Given the description of an element on the screen output the (x, y) to click on. 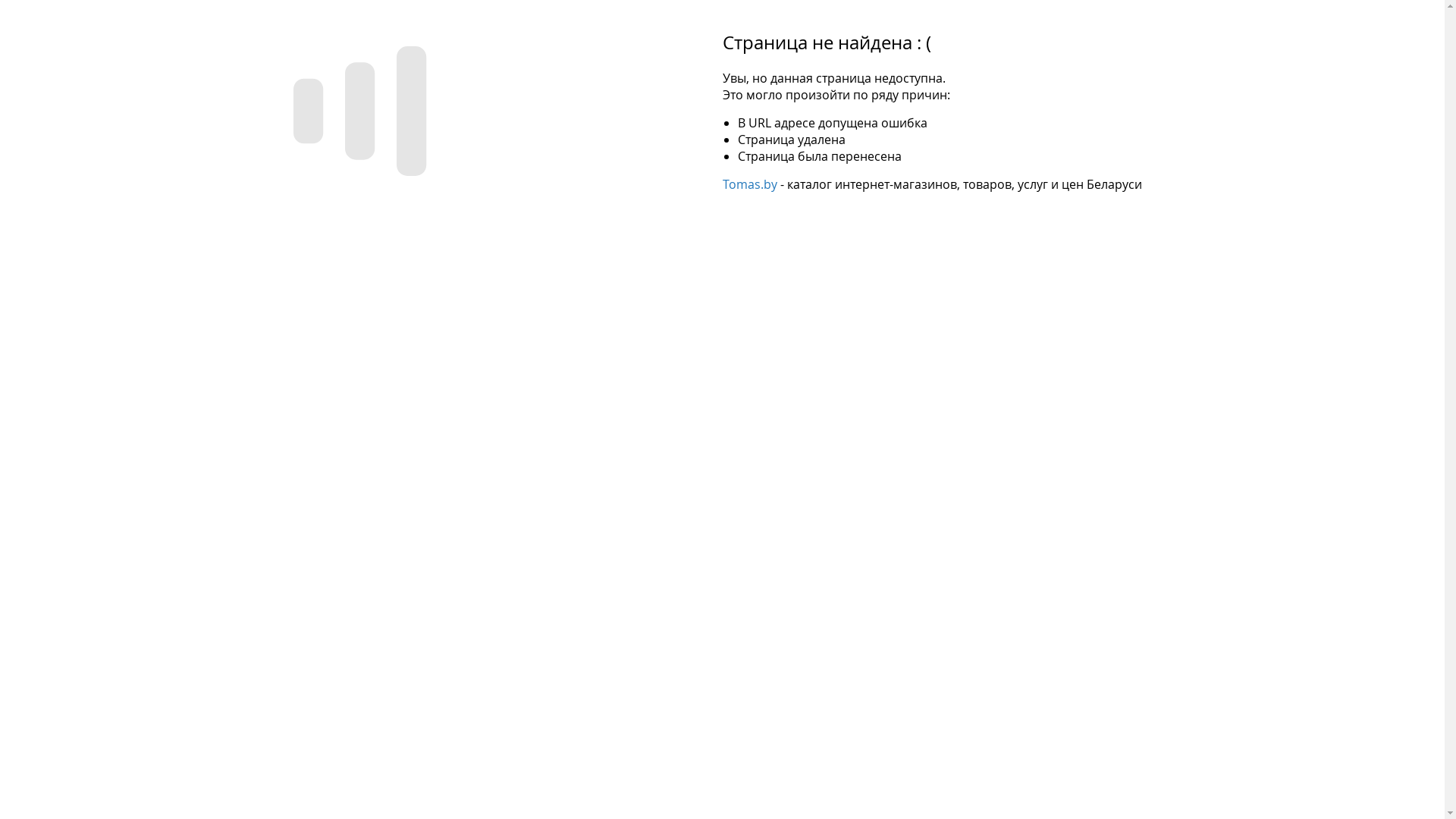
Tomas.by Element type: text (748, 183)
